Given the description of an element on the screen output the (x, y) to click on. 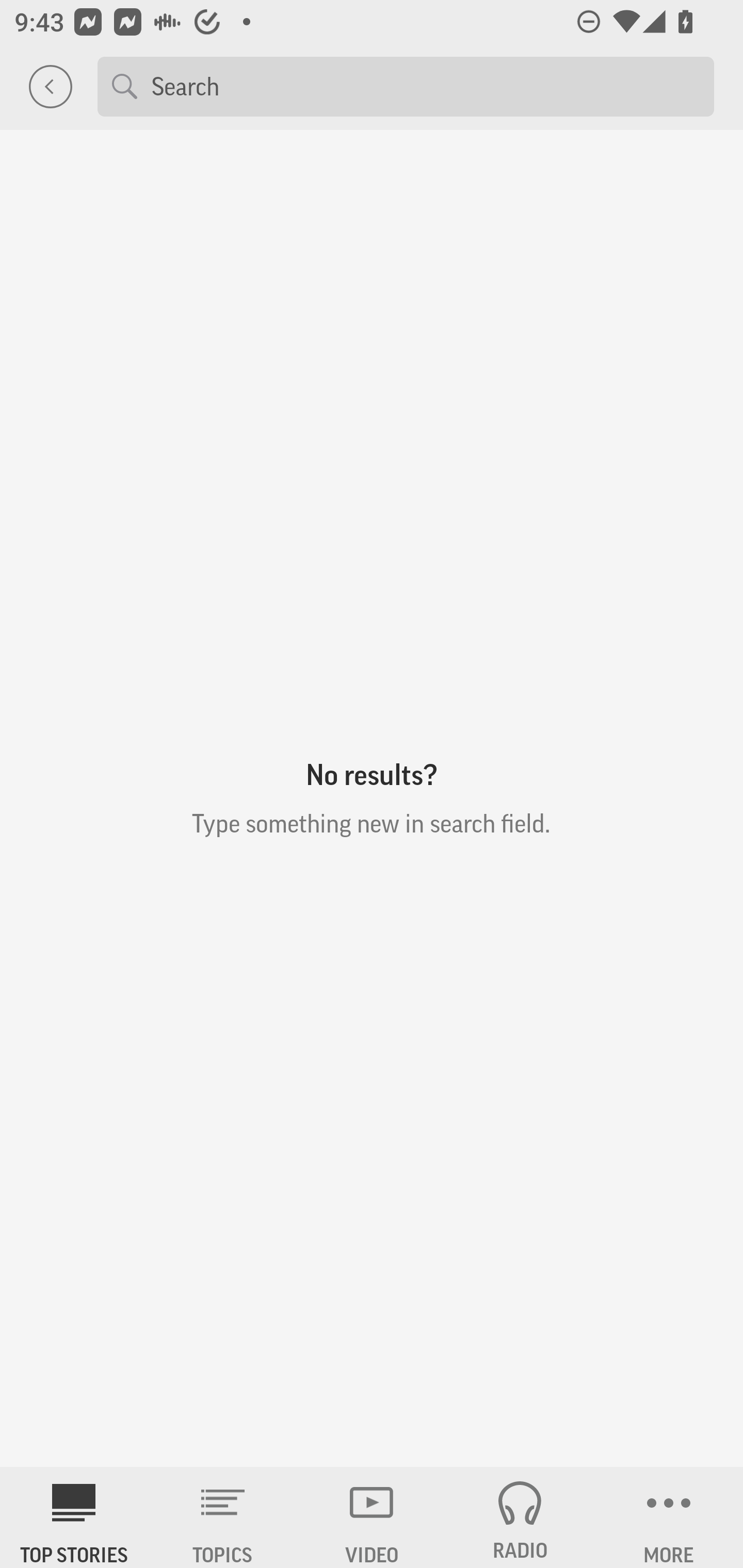
Search (425, 86)
AP News TOP STORIES (74, 1517)
TOPICS (222, 1517)
VIDEO (371, 1517)
RADIO (519, 1517)
MORE (668, 1517)
